Given the description of an element on the screen output the (x, y) to click on. 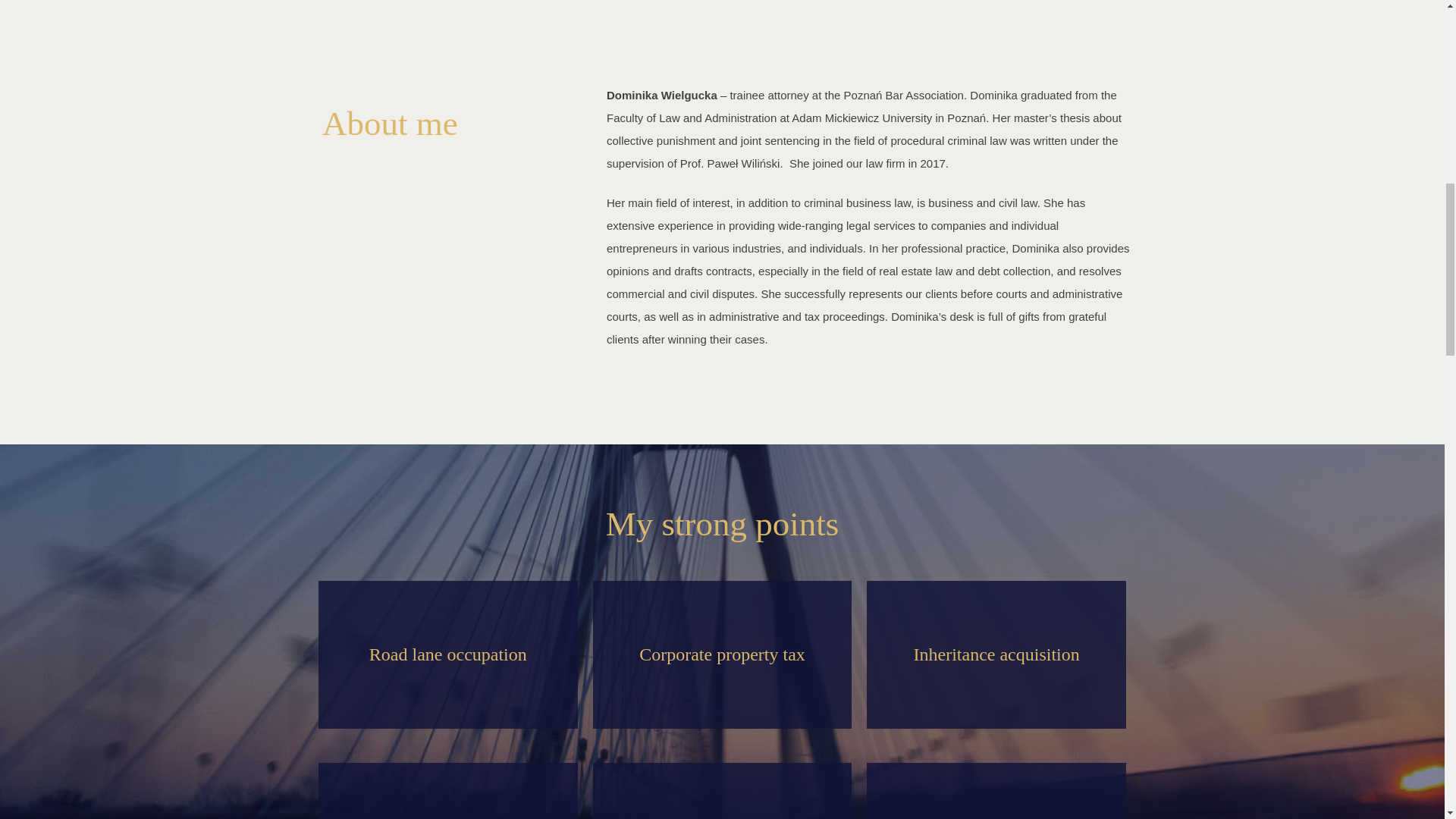
Corporate property tax (721, 654)
Road lane occupation (448, 654)
Will invalidity (721, 790)
Division of inheritance (448, 790)
Inheritance acquisition (995, 654)
Debt collection (995, 790)
